Given the description of an element on the screen output the (x, y) to click on. 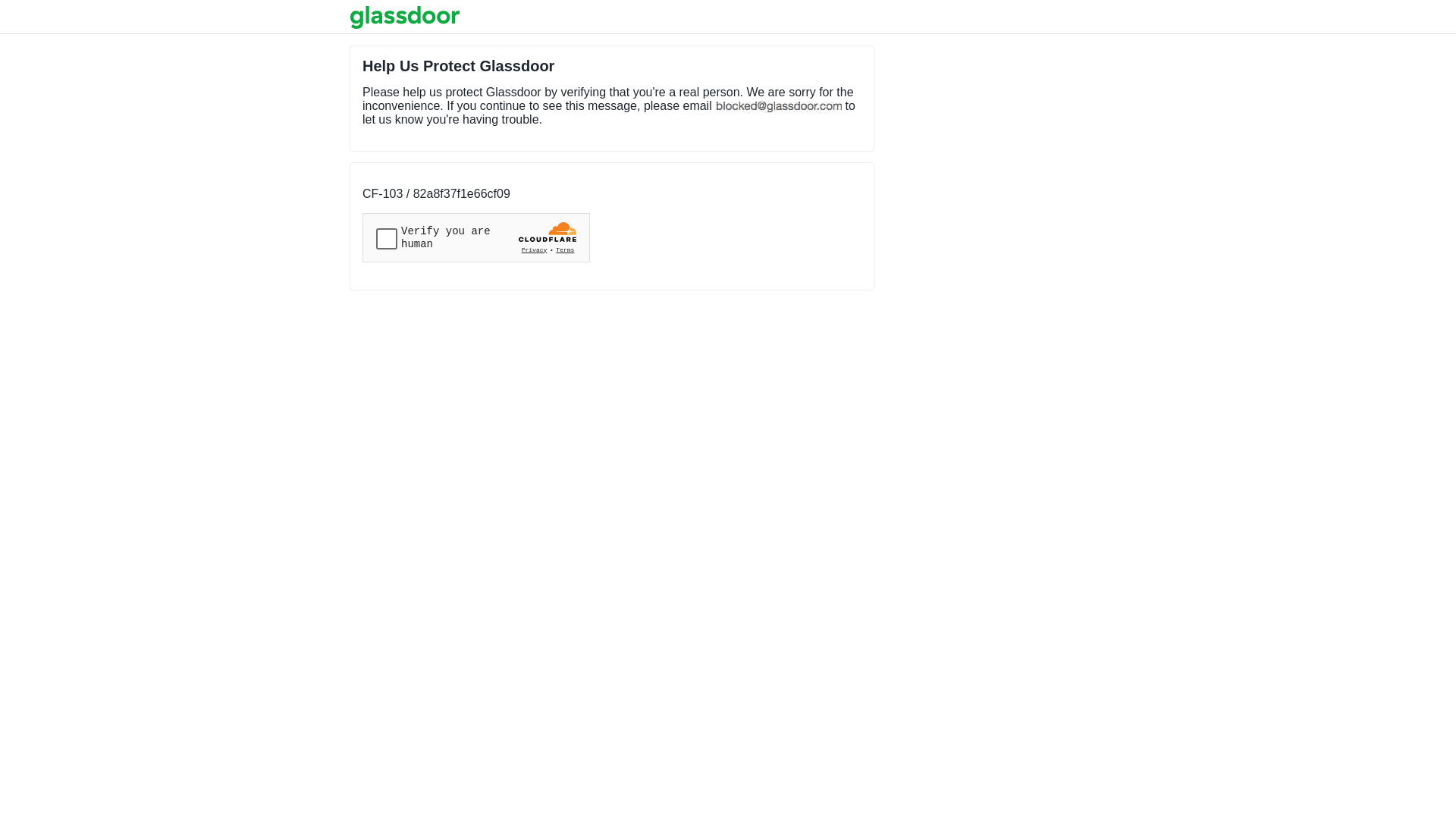
Widget containing a Cloudflare security challenge Element type: hover (475, 237)
